Given the description of an element on the screen output the (x, y) to click on. 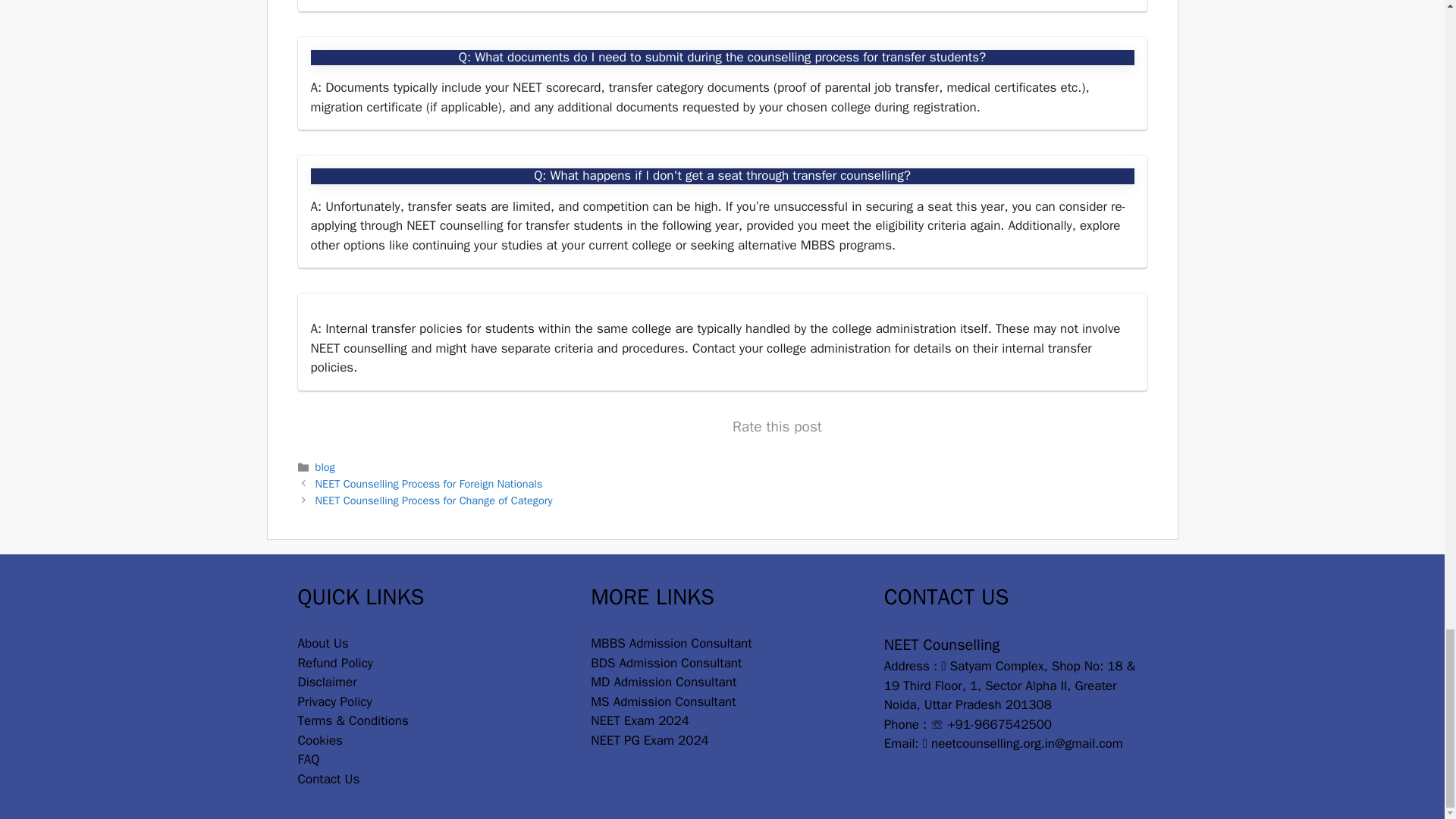
BDS Admission Consultant (666, 662)
MBBS Admission Consultant (671, 643)
Cookies (319, 740)
NEET Counselling Process for Change of Category (434, 499)
FAQ (307, 759)
MD Admission Consultant (663, 682)
Refund Policy (334, 662)
NEET Counselling Process for Foreign Nationals (429, 483)
MS Admission Consultant (663, 701)
blog (324, 467)
